Given the description of an element on the screen output the (x, y) to click on. 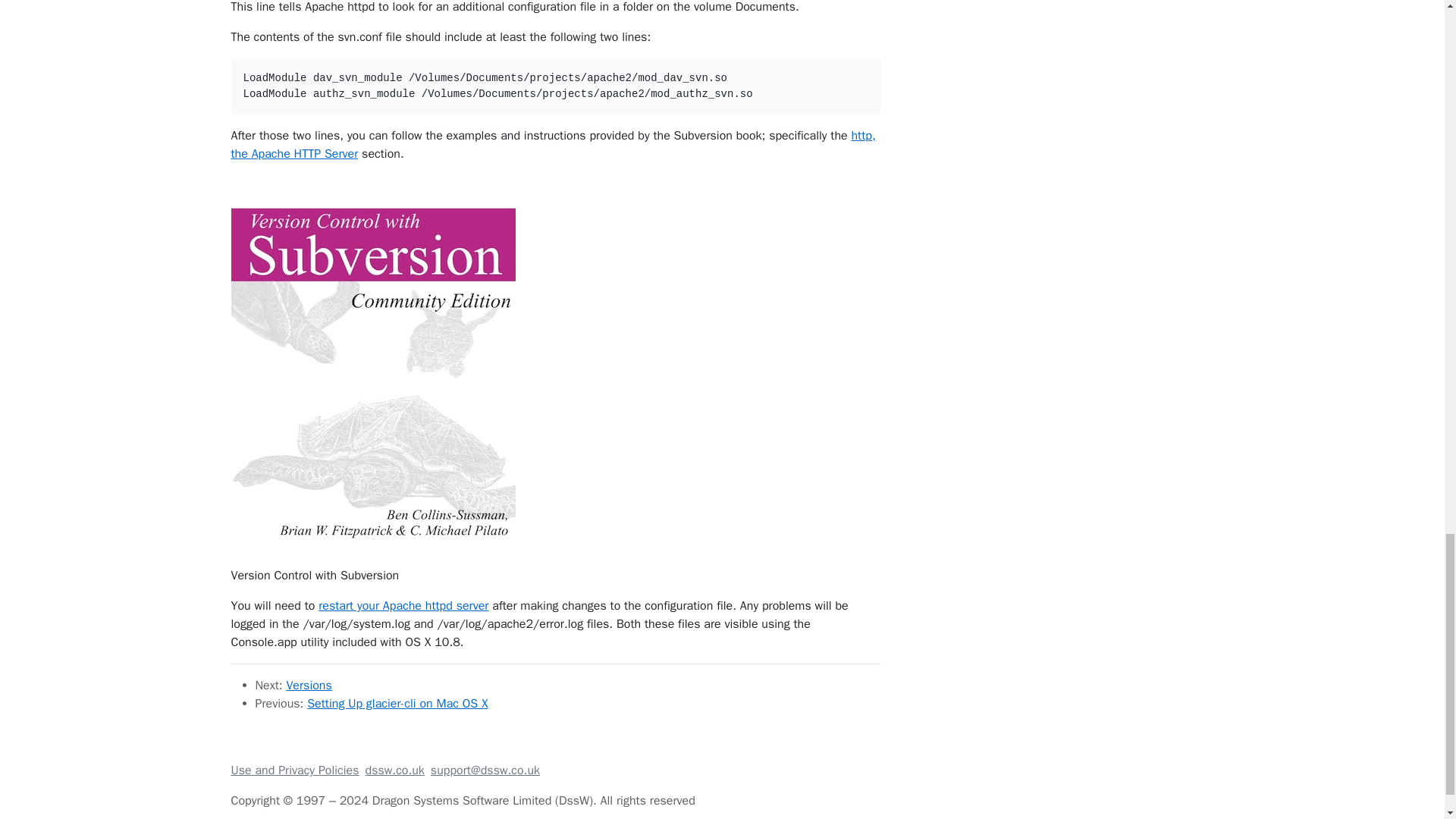
restart your Apache httpd server (402, 605)
Use and Privacy Policies (294, 770)
Setting Up glacier-cli on Mac OS X (397, 703)
Versions (308, 685)
http, the Apache HTTP Server (552, 144)
dssw.co.uk (395, 770)
